Given the description of an element on the screen output the (x, y) to click on. 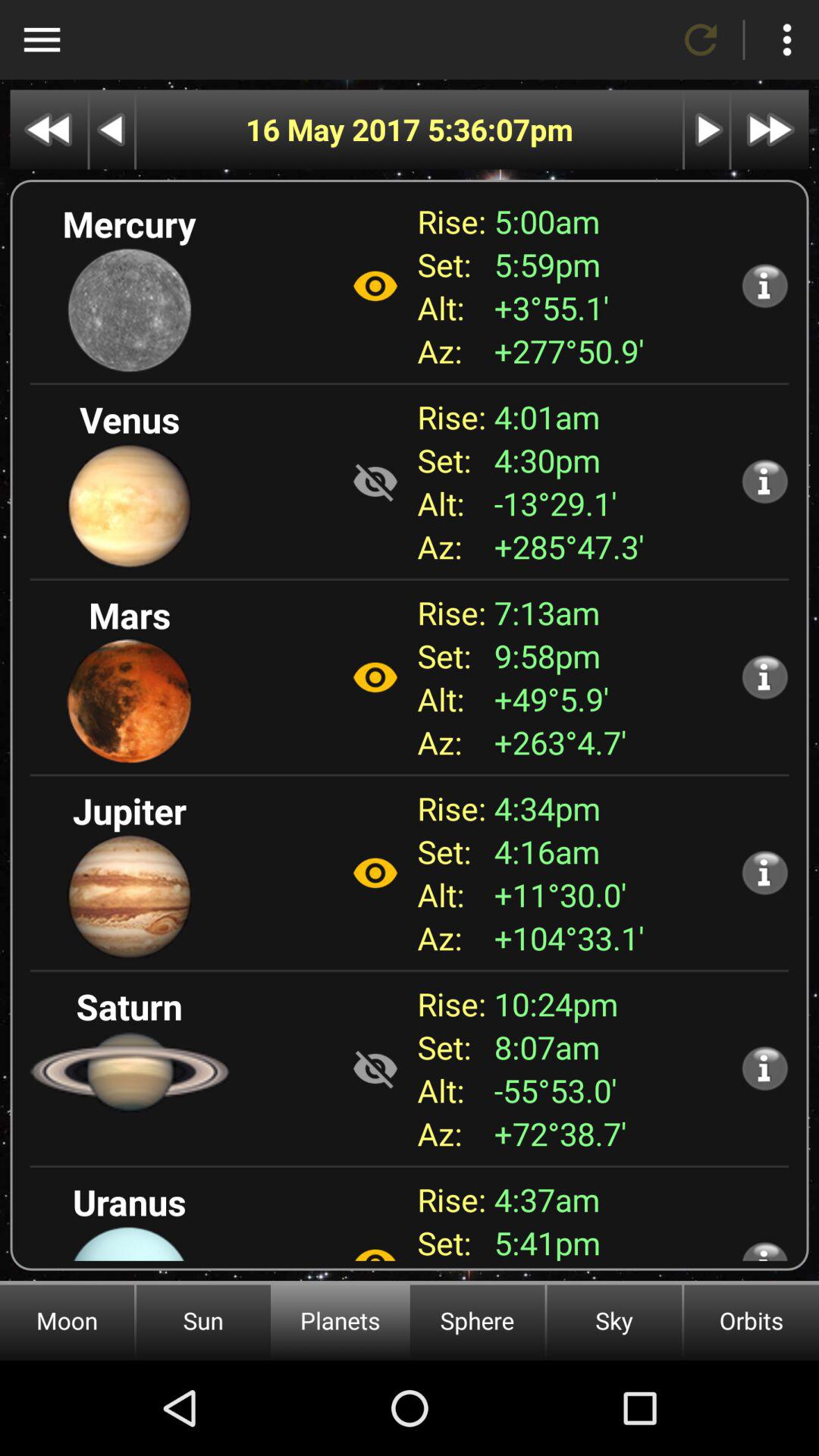
open main menu list view (41, 39)
